Given the description of an element on the screen output the (x, y) to click on. 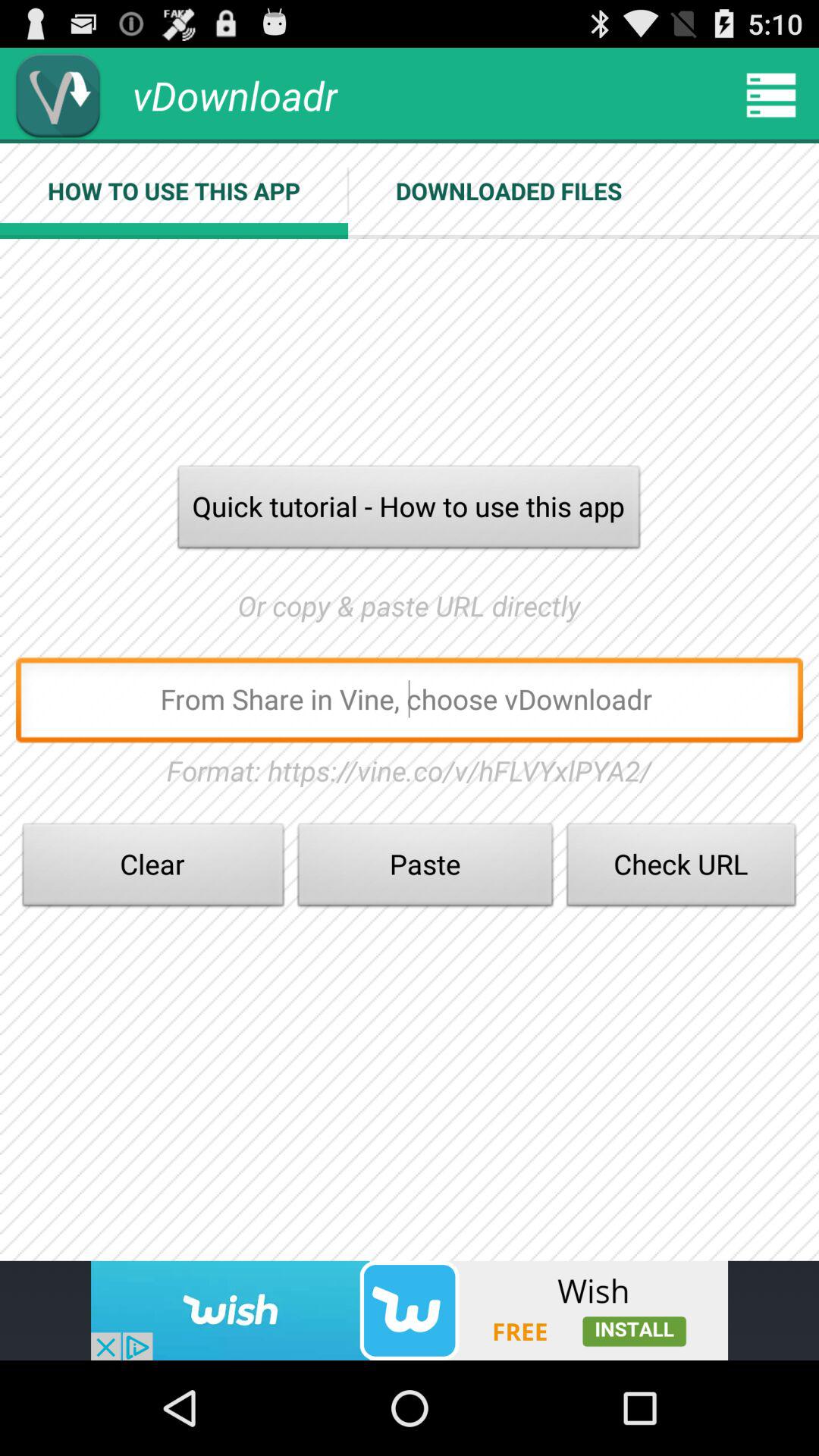
vdownloadr icon (58, 95)
